Given the description of an element on the screen output the (x, y) to click on. 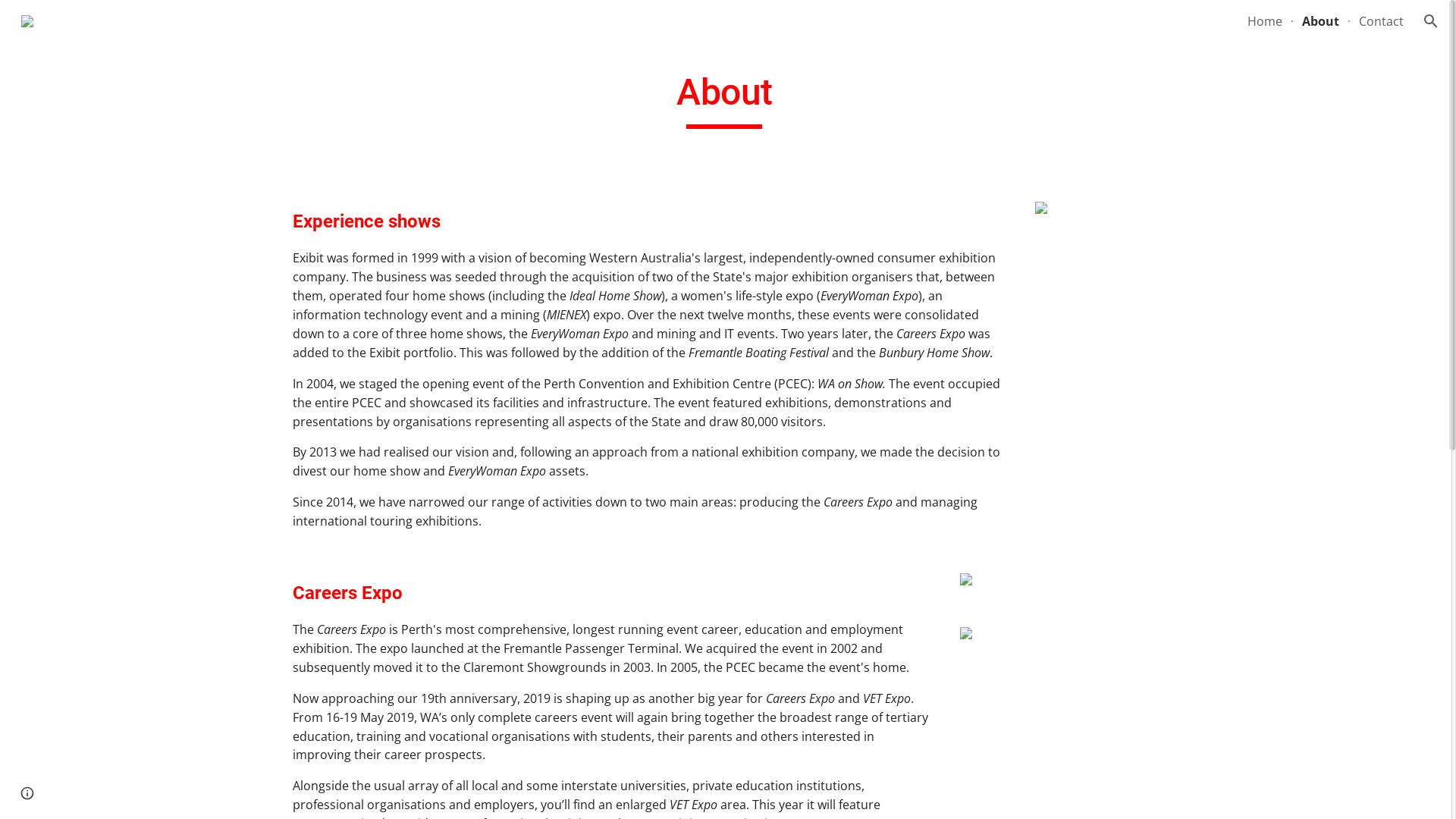
About Element type: text (1320, 20)
Home Element type: text (1264, 20)
Contact Element type: text (1380, 20)
